Given the description of an element on the screen output the (x, y) to click on. 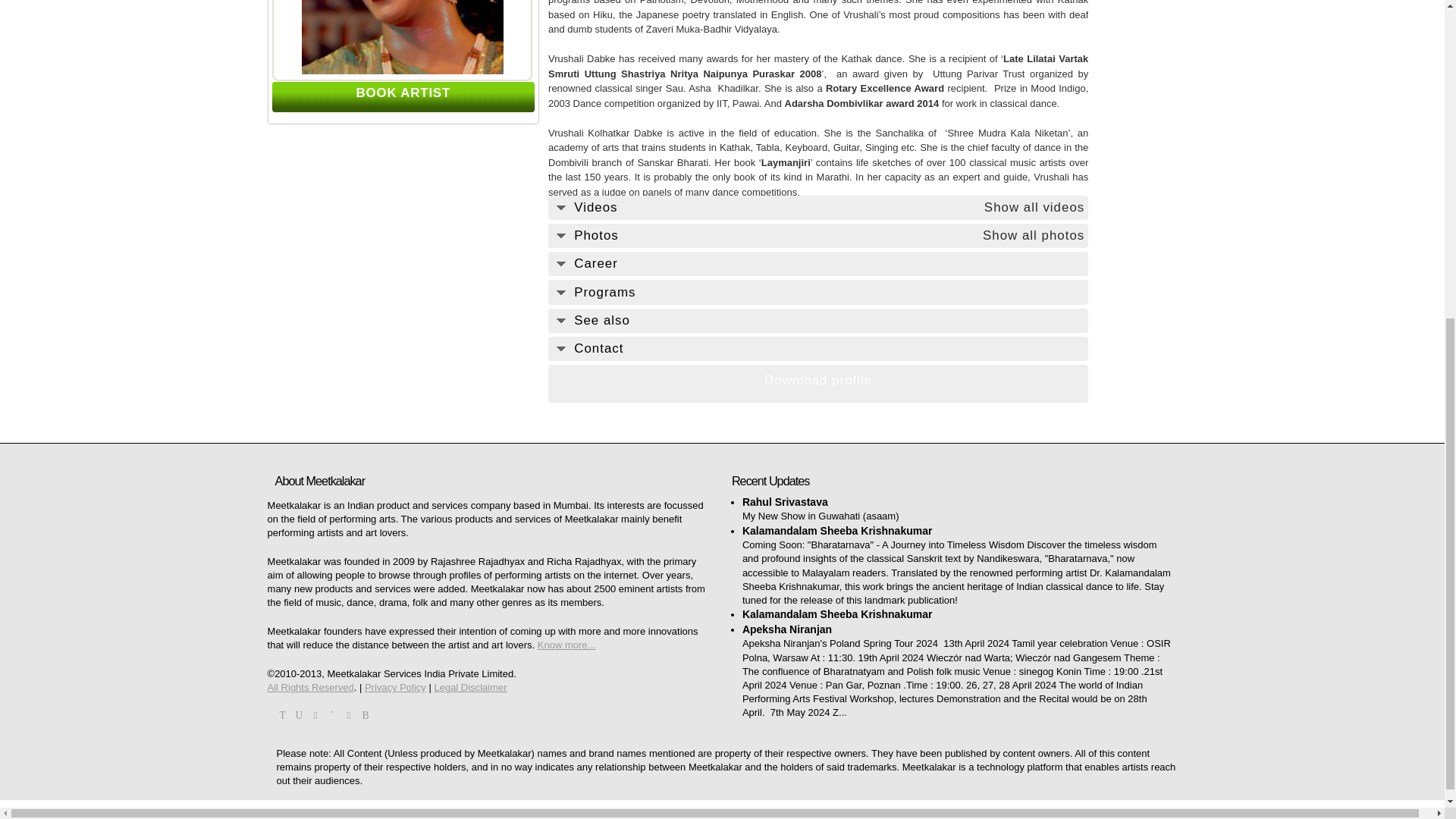
Show all photos (1033, 235)
BOOK ARTIST (403, 92)
Show all videos (1034, 207)
